Given the description of an element on the screen output the (x, y) to click on. 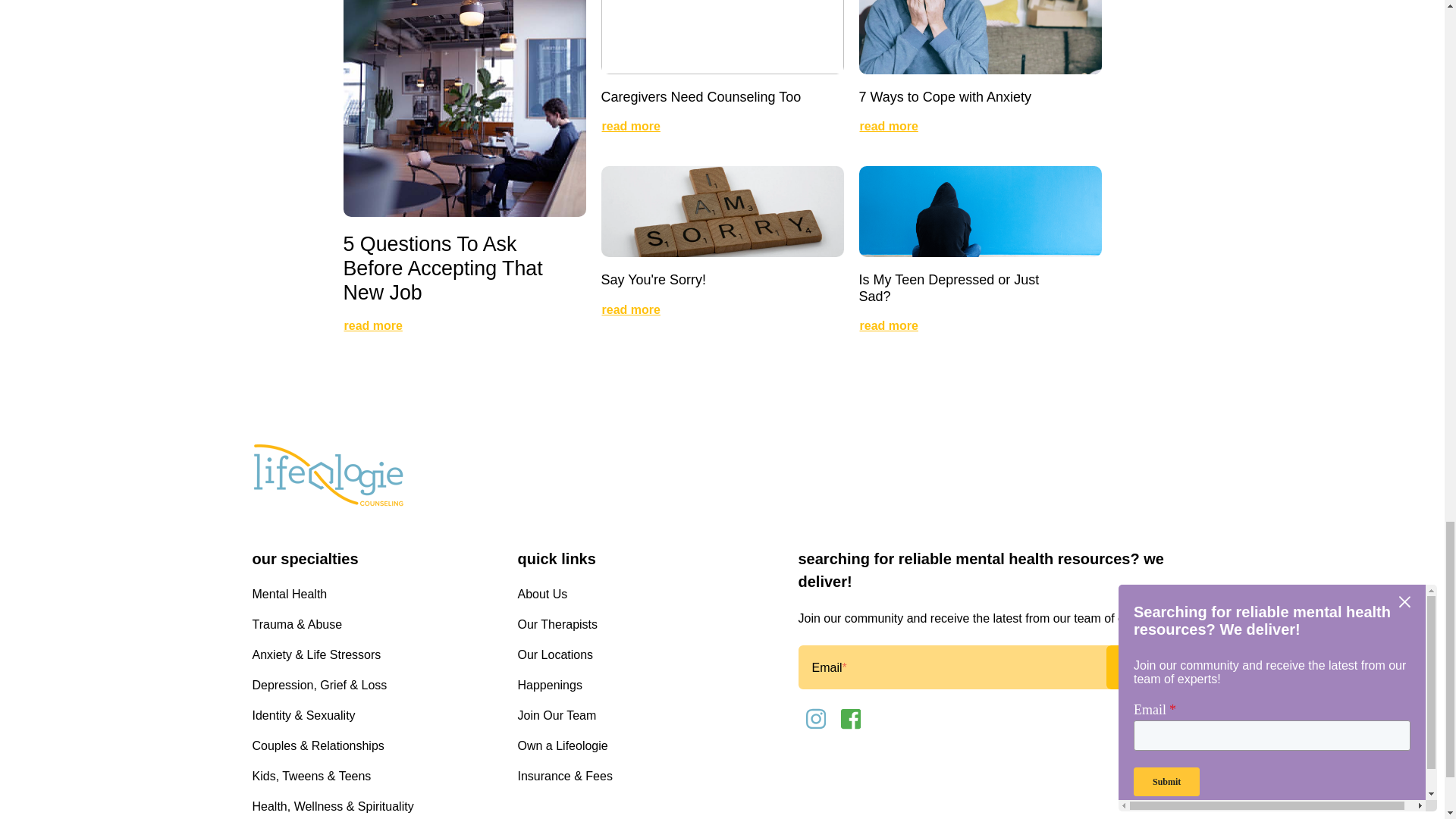
Submit (1148, 667)
Is My Teen Depressed or Just Sad? (949, 287)
Say You're Sorry! (652, 279)
Caregivers Need Counseling Too (699, 96)
wefixbrains.comhs-fshubfsLifeologie main logo-3-4 (327, 476)
7 Ways to Cope with Anxiety (944, 96)
5 Questions To Ask Before Accepting That New Job (441, 267)
